Given the description of an element on the screen output the (x, y) to click on. 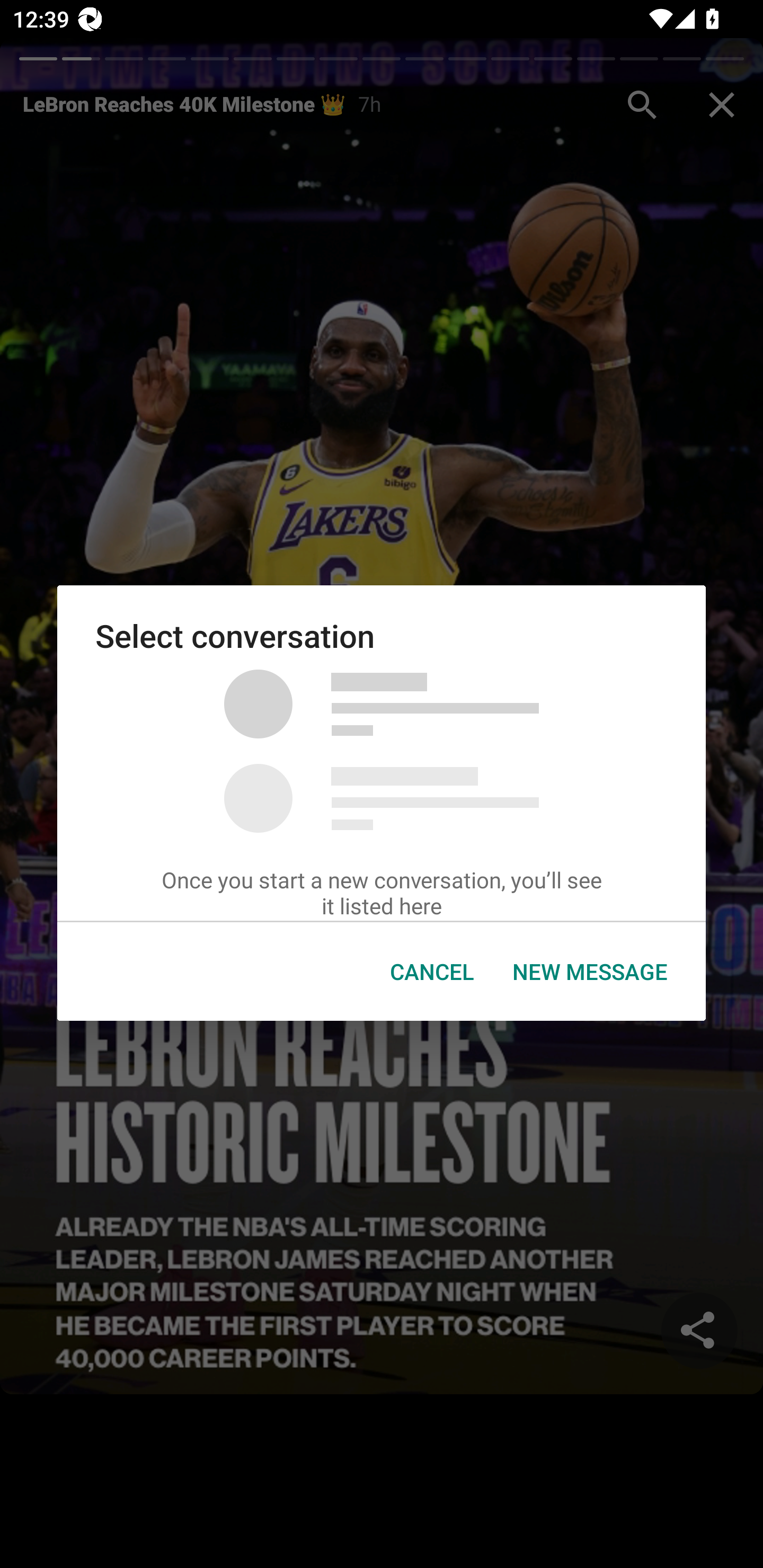
CANCEL (431, 971)
NEW MESSAGE (589, 971)
